Given the description of an element on the screen output the (x, y) to click on. 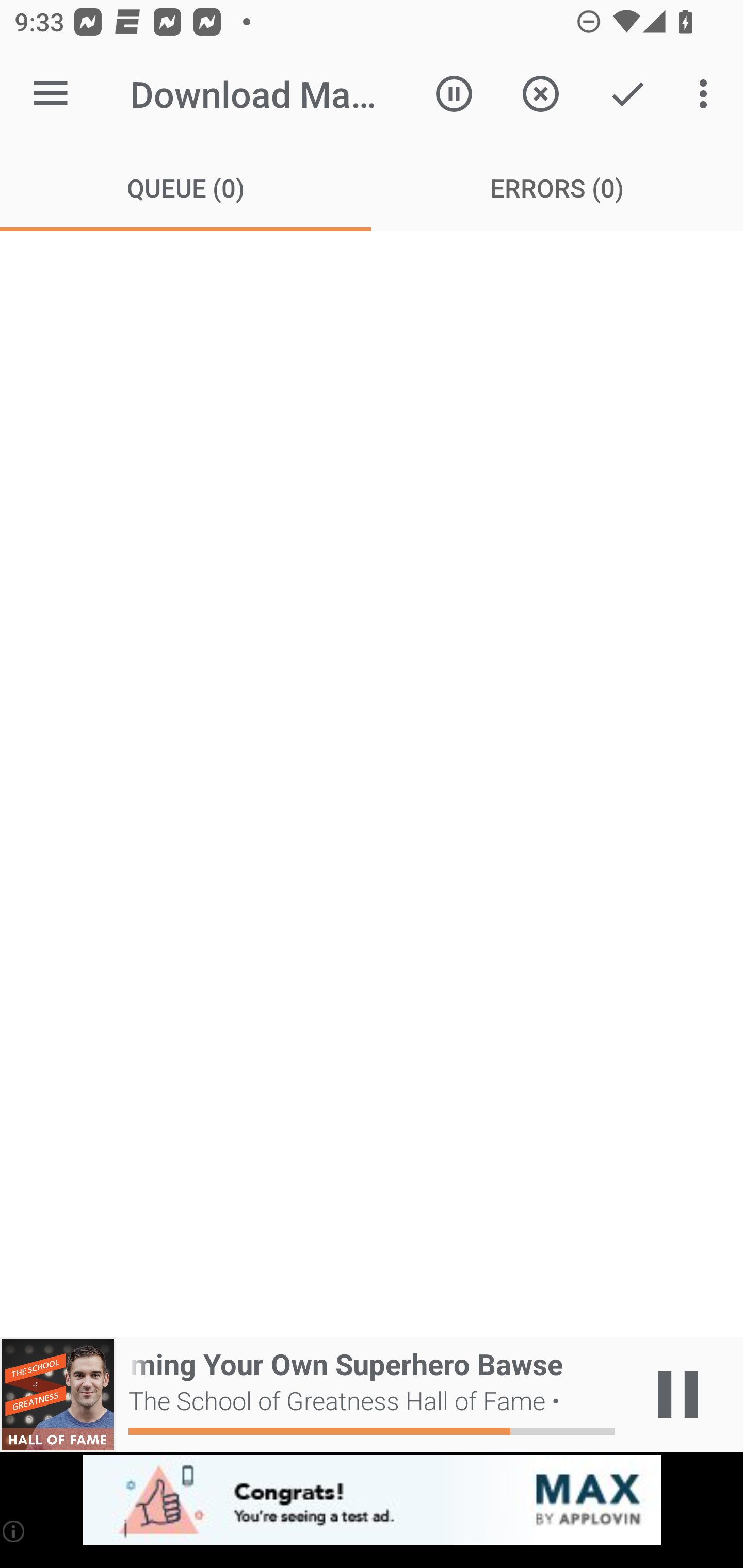
Open navigation sidebar (50, 93)
Pause downloads... (453, 93)
Cancel Downloads (540, 93)
Action Mode (626, 93)
More options (706, 93)
Errors (0) ERRORS (0) (557, 187)
Play / Pause (677, 1394)
app-monetization (371, 1500)
(i) (14, 1531)
